Given the description of an element on the screen output the (x, y) to click on. 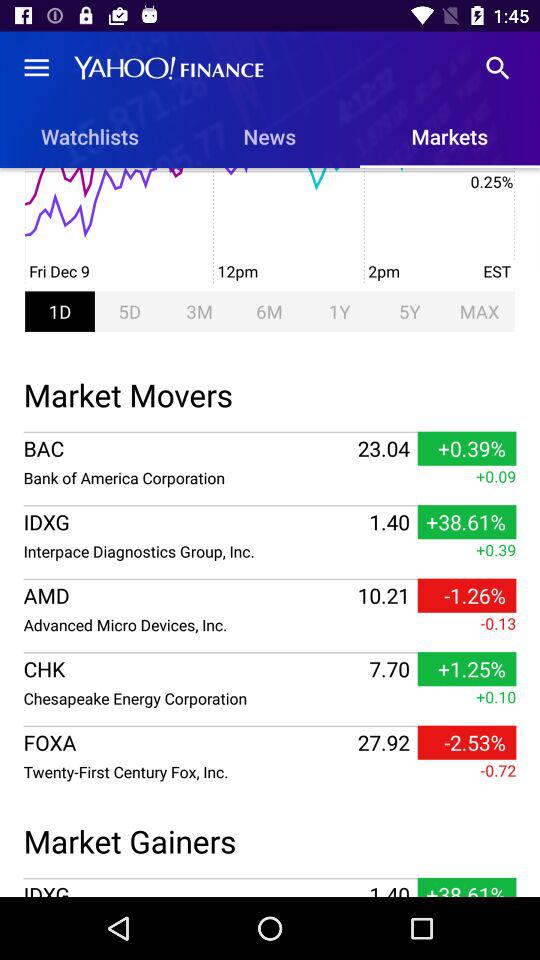
click item below bank of america item (269, 505)
